Given the description of an element on the screen output the (x, y) to click on. 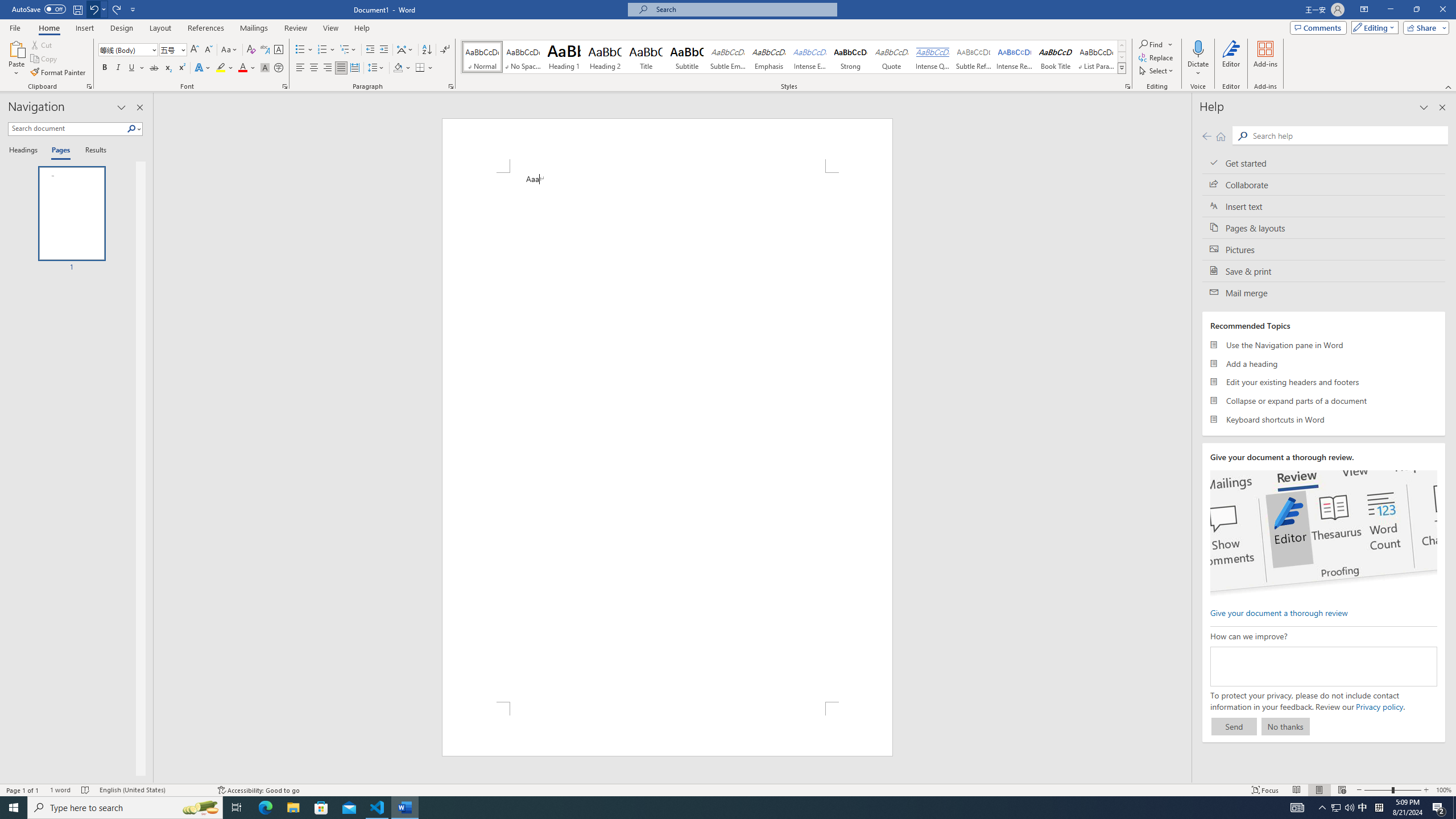
Close pane (139, 107)
Zoom (1392, 790)
Bullets (304, 49)
Italic (118, 67)
Emphasis (768, 56)
Row Down (1121, 56)
Mode (1372, 27)
Spelling and Grammar Check No Errors (85, 790)
Mail merge (1323, 292)
Undo Increase Indent (96, 9)
Save & print (1323, 270)
Microsoft search (742, 9)
Page Number Page 1 of 1 (22, 790)
Print Layout (1318, 790)
